Given the description of an element on the screen output the (x, y) to click on. 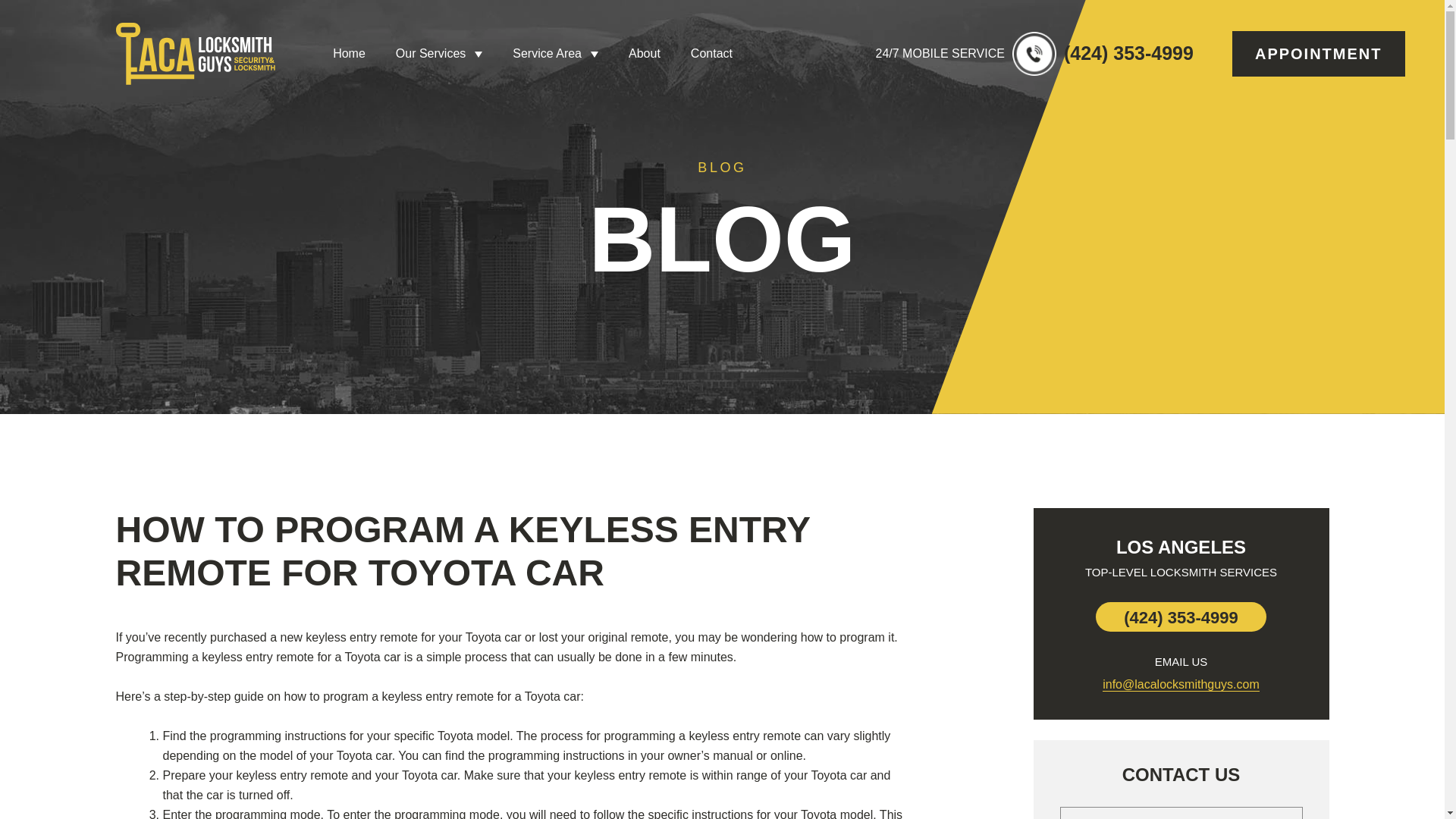
Contact (711, 54)
Service Area (555, 54)
Home (349, 54)
Our Services (438, 54)
APPOINTMENT (1318, 53)
About (644, 54)
